Given the description of an element on the screen output the (x, y) to click on. 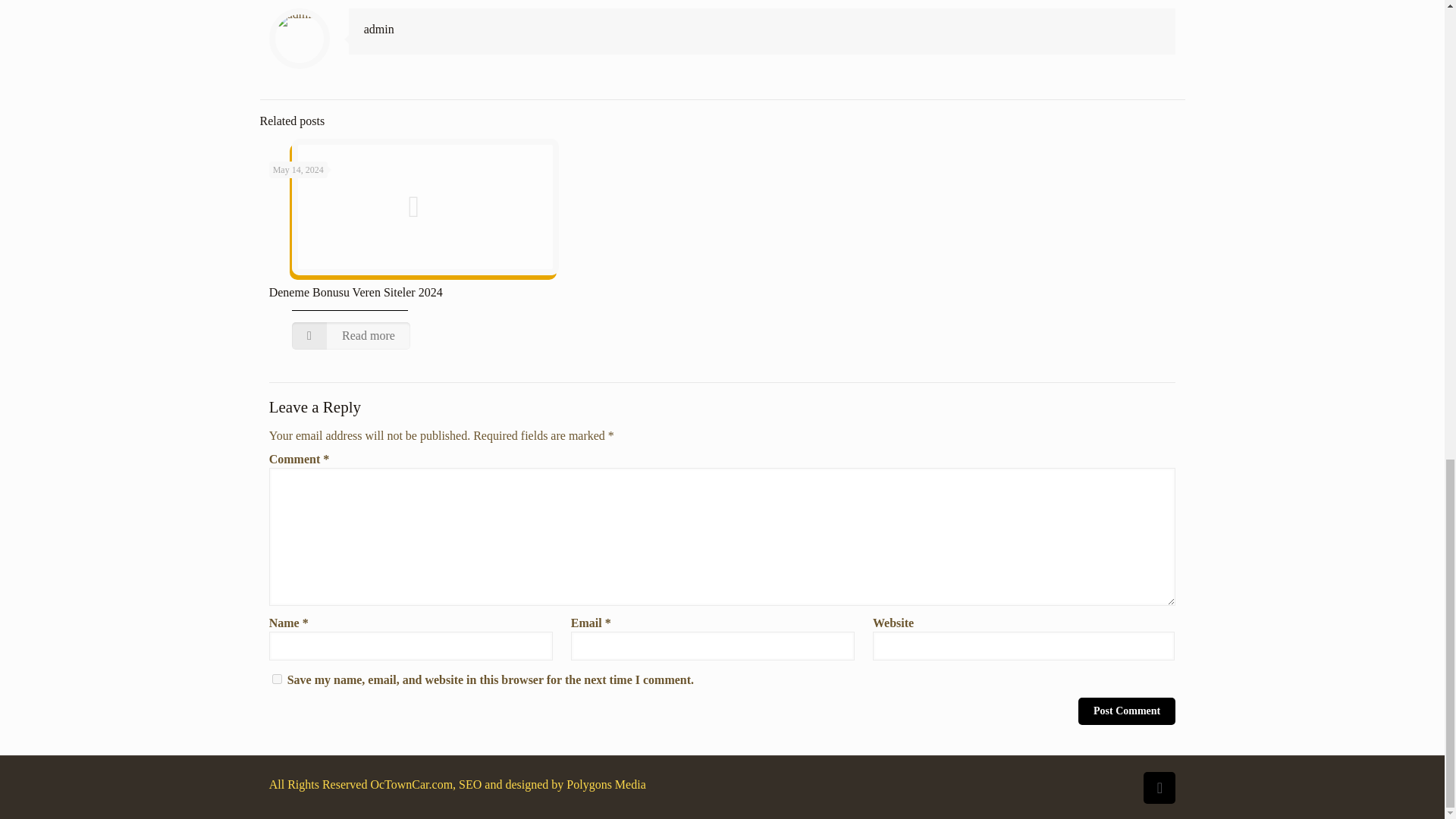
yes (277, 678)
SEO and designed by Polygons Media (550, 784)
admin (379, 29)
Deneme Bonusu Veren Siteler 2024 (355, 291)
Post Comment (1126, 710)
Post Comment (1126, 710)
Read more (351, 335)
